Given the description of an element on the screen output the (x, y) to click on. 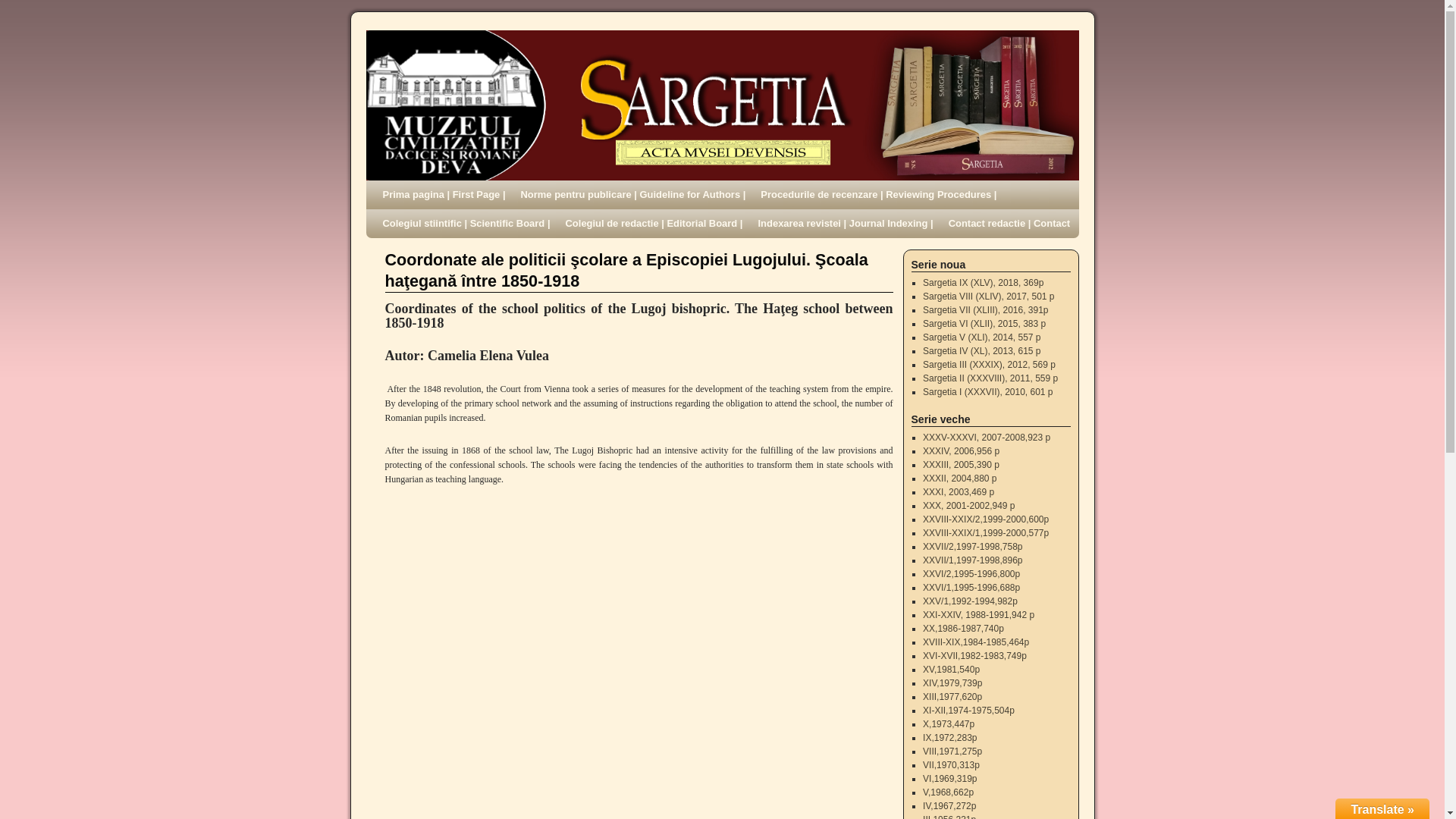
XXXV-XXXVI, 2007-2008,923 p (986, 437)
XVIII-XIX,1984-1985,464p (976, 642)
XI-XII,1974-1975,504p (968, 710)
XXXIII, 2005,390 p (960, 464)
XXI-XXIV, 1988-1991,942 p (978, 614)
XXXII, 2004,880 p (959, 478)
XXXIV, 2006,956 p (960, 450)
XXXI, 2003,469 p (958, 491)
XVI-XVII,1982-1983,749p (974, 655)
XX,1986-1987,740p (963, 628)
XIII,1977,620p (952, 696)
XV,1981,540p (951, 669)
XXX, 2001-2002,949 p (968, 505)
XIV,1979,739p (952, 683)
X,1973,447p (948, 724)
